Given the description of an element on the screen output the (x, y) to click on. 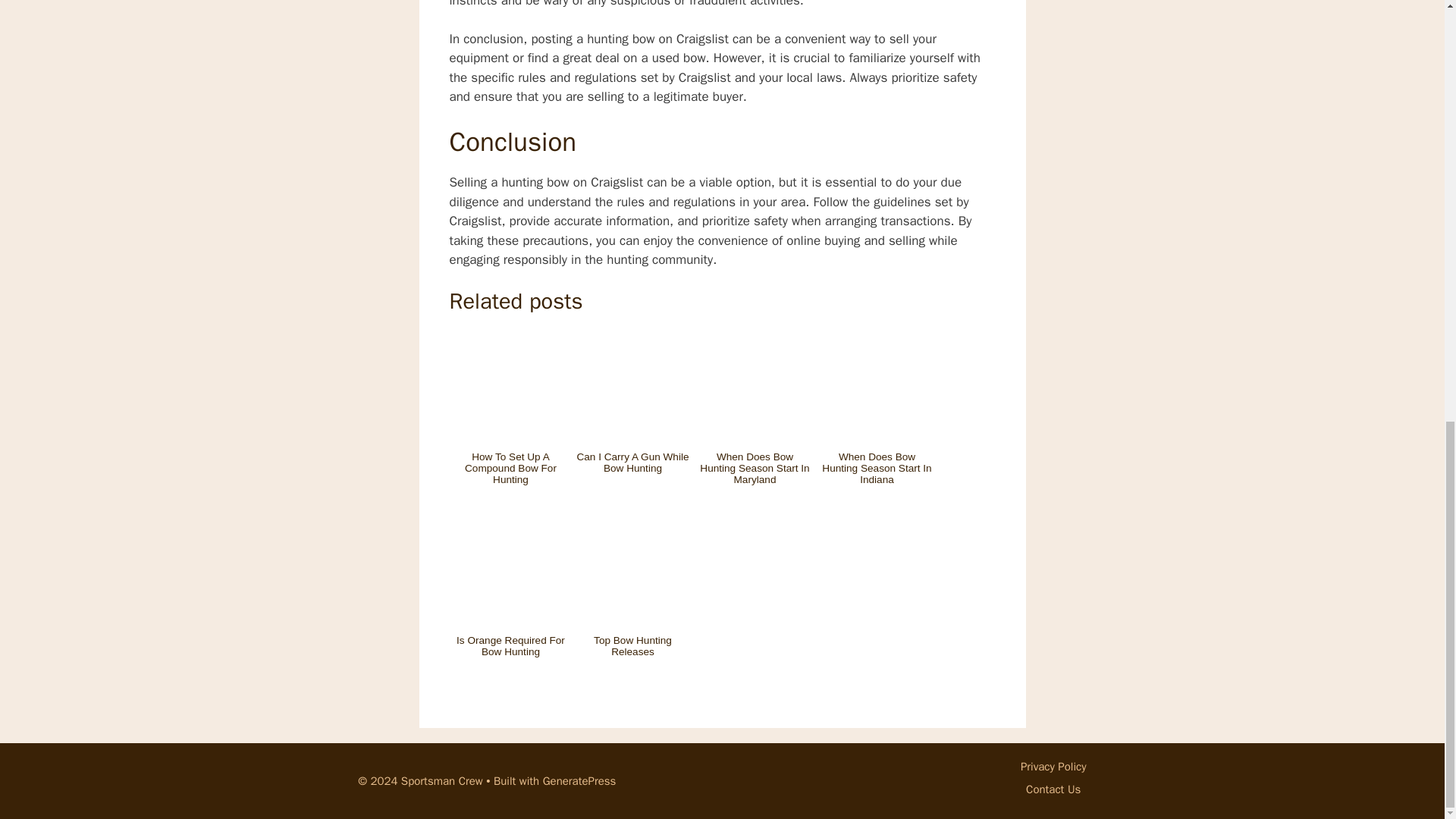
Privacy Policy (1053, 766)
Contact Us (1053, 789)
GeneratePress (579, 780)
